Given the description of an element on the screen output the (x, y) to click on. 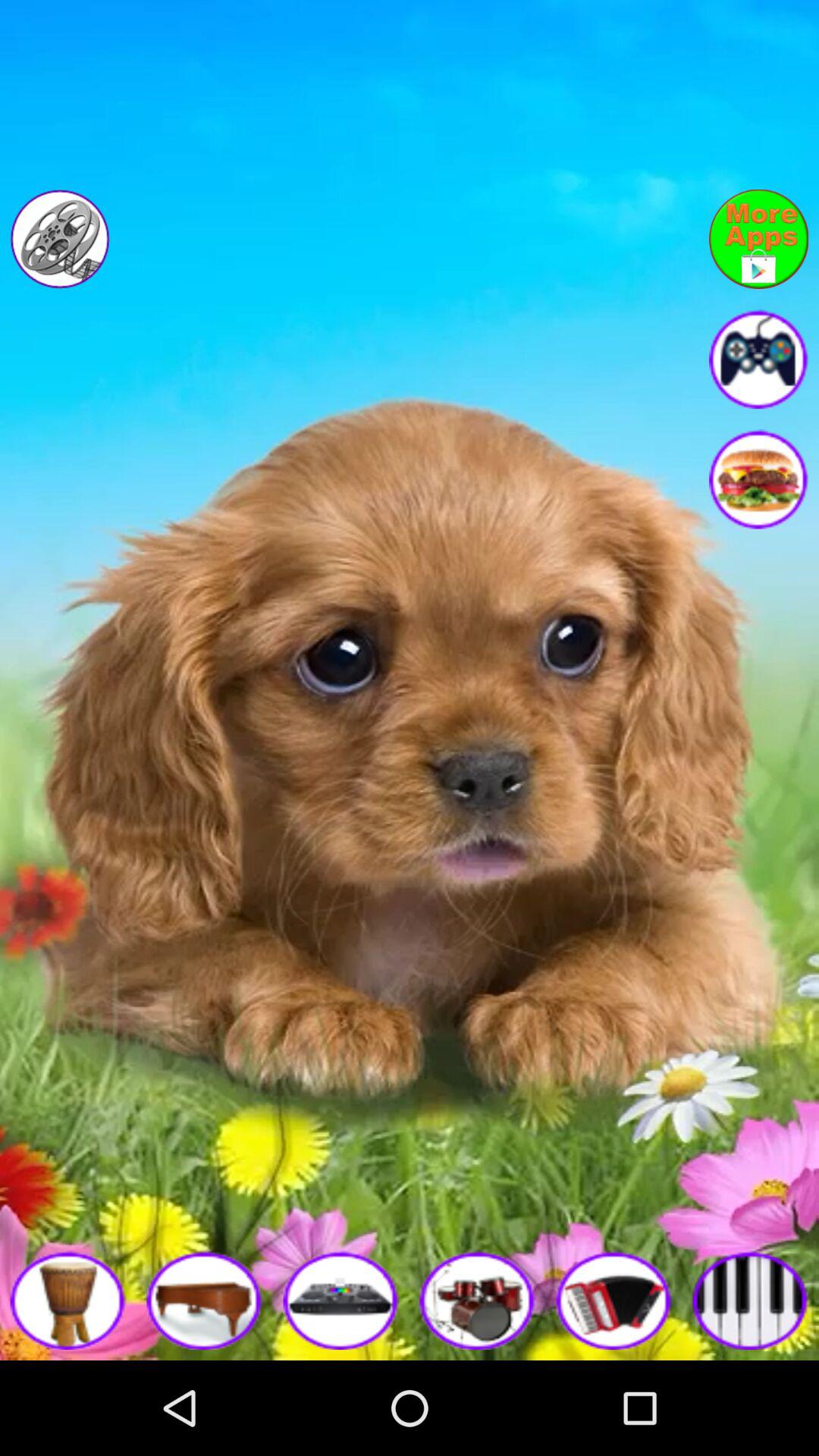
click piano feature (204, 1300)
